Given the description of an element on the screen output the (x, y) to click on. 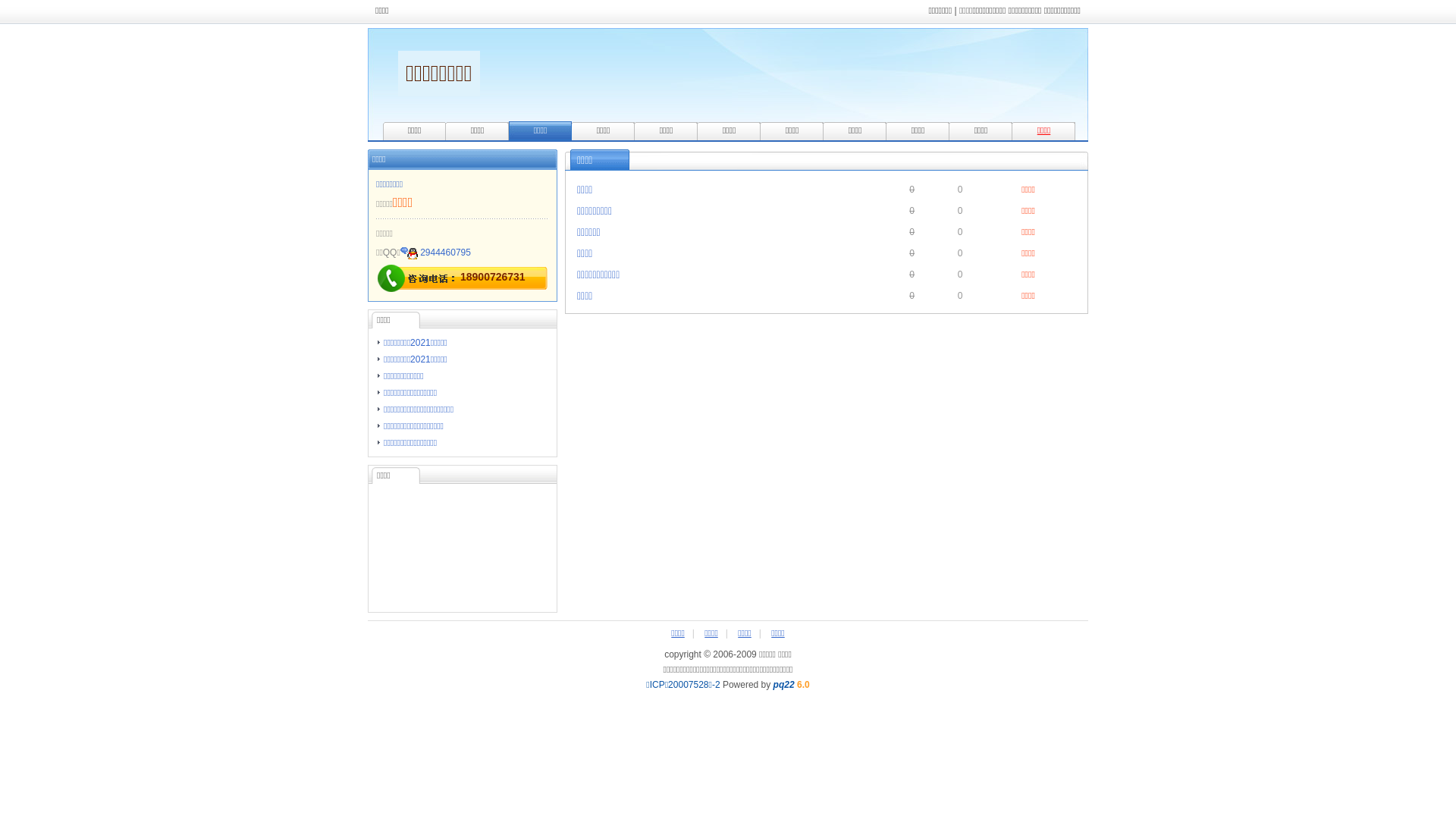
2944460795 Element type: text (445, 252)
pq22 Element type: text (783, 684)
